Given the description of an element on the screen output the (x, y) to click on. 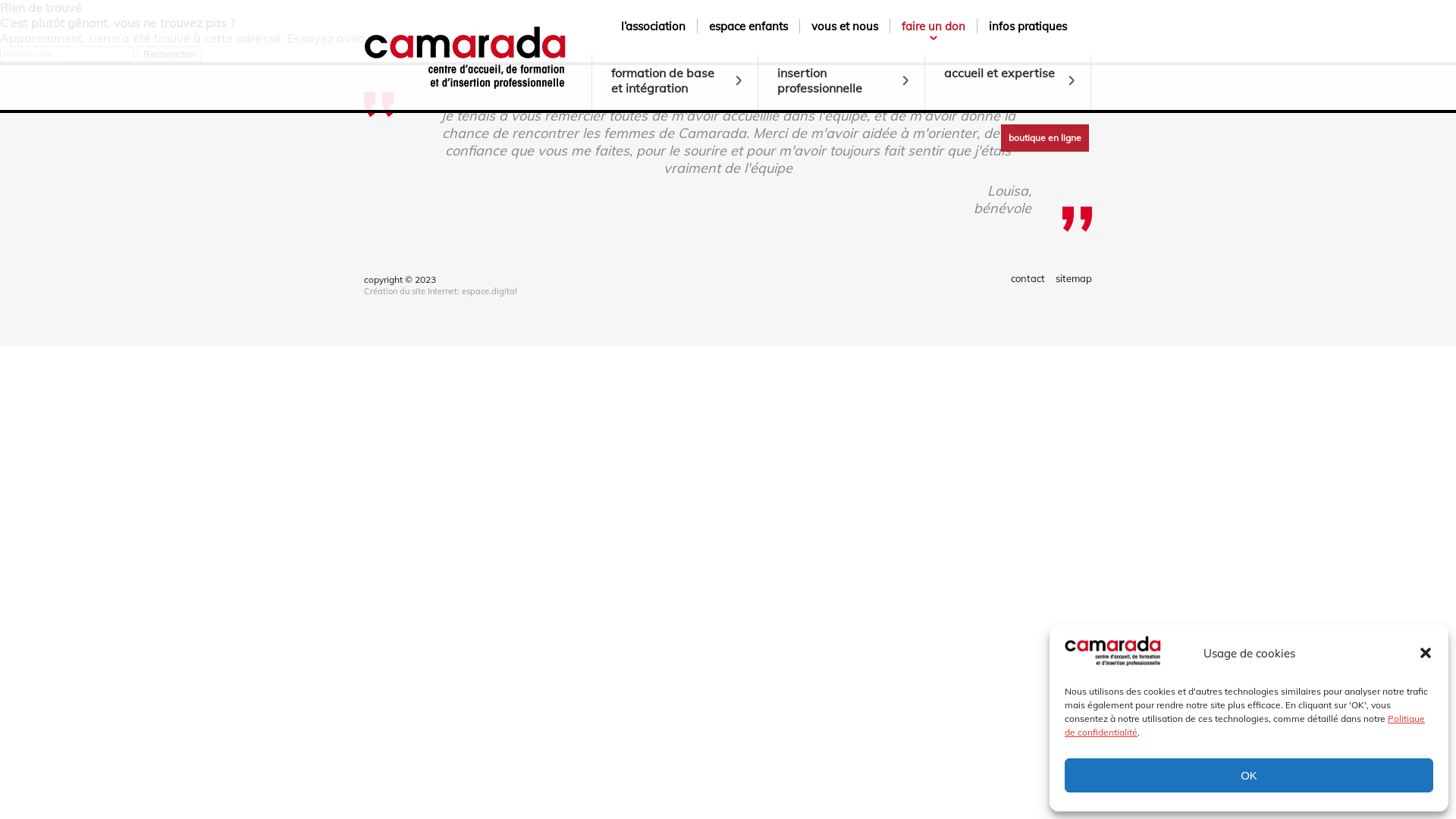
infos pratiques Element type: text (1027, 25)
OK Element type: text (1248, 775)
sitemap Element type: text (1073, 278)
Rechercher Element type: text (169, 54)
faire un don Element type: text (933, 25)
accueil et expertise Element type: text (1008, 81)
espace enfants Element type: text (748, 25)
boutique en ligne Element type: text (1044, 137)
vous et nous Element type: text (844, 25)
contact Element type: text (1027, 278)
insertion professionnelle Element type: text (841, 81)
